Given the description of an element on the screen output the (x, y) to click on. 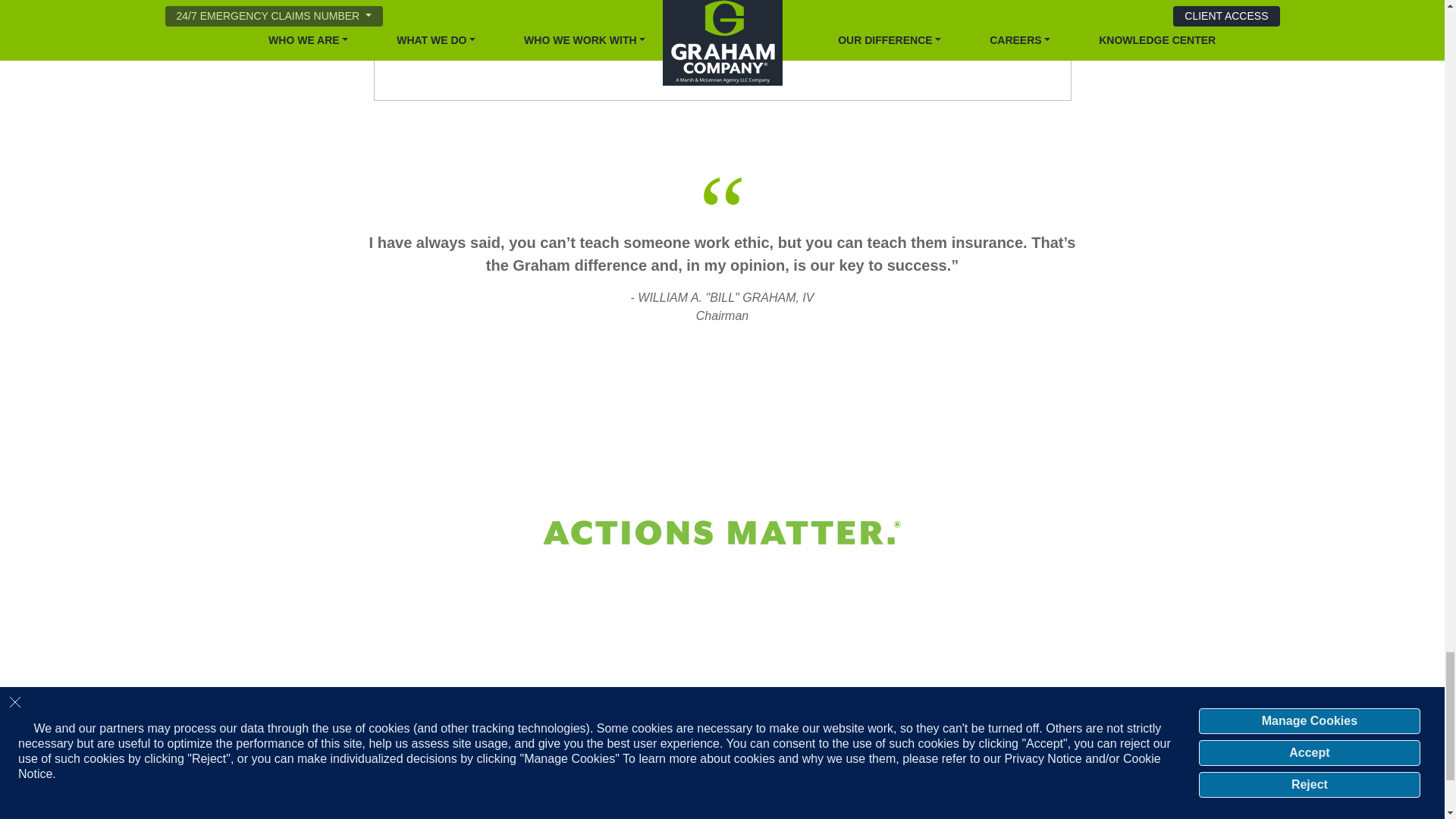
Twitter (1062, 795)
Facebook (1107, 795)
Instagram (1091, 795)
Youtube (1122, 795)
LinkedIn (1077, 795)
